Given the description of an element on the screen output the (x, y) to click on. 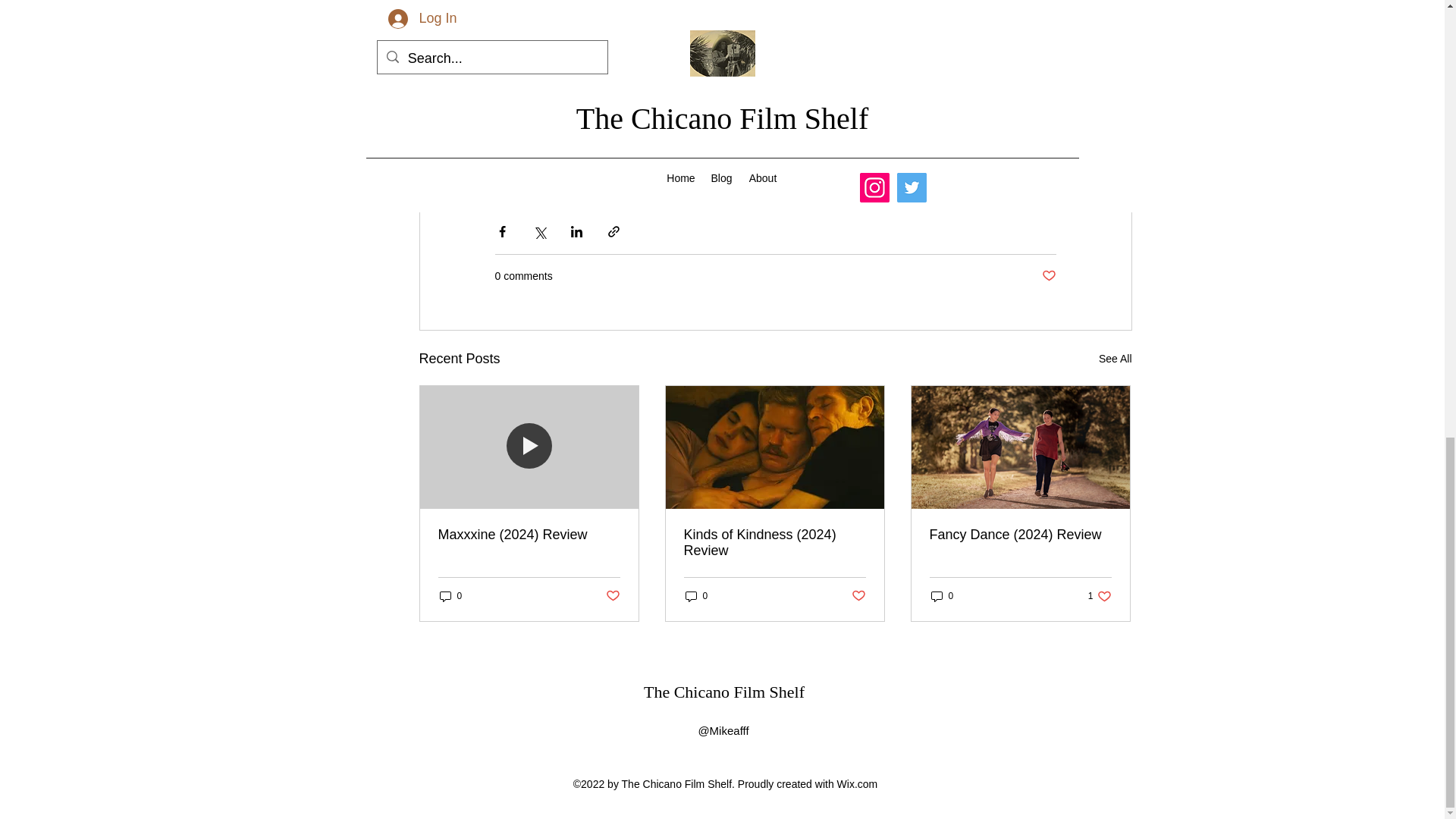
See All (1115, 359)
0 (451, 595)
Post not marked as liked (1049, 276)
0 (942, 595)
Post not marked as liked (612, 596)
0 (697, 595)
Post not marked as liked (1099, 595)
